Given the description of an element on the screen output the (x, y) to click on. 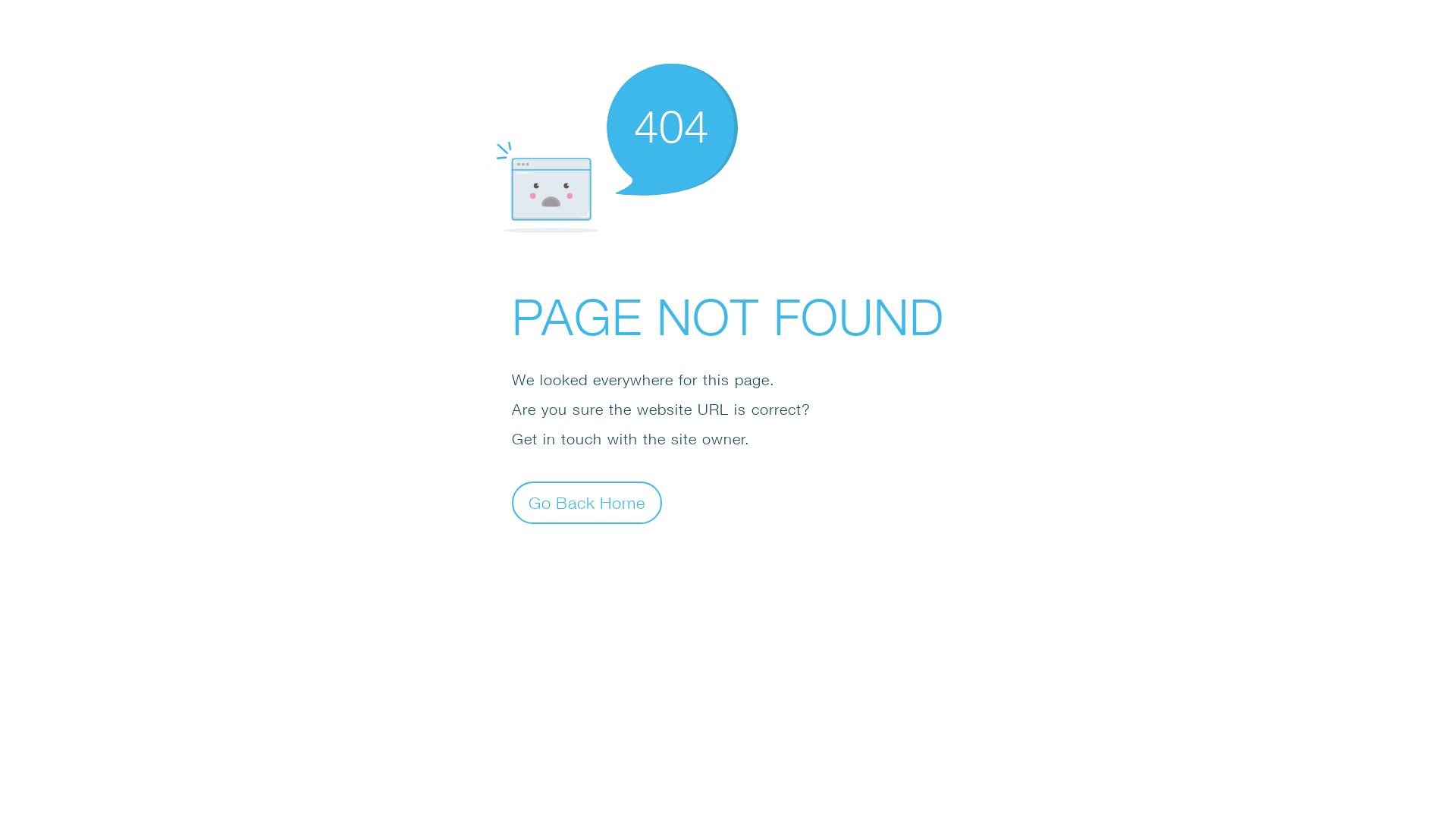
Go Back Home Element type: text (586, 502)
